Given the description of an element on the screen output the (x, y) to click on. 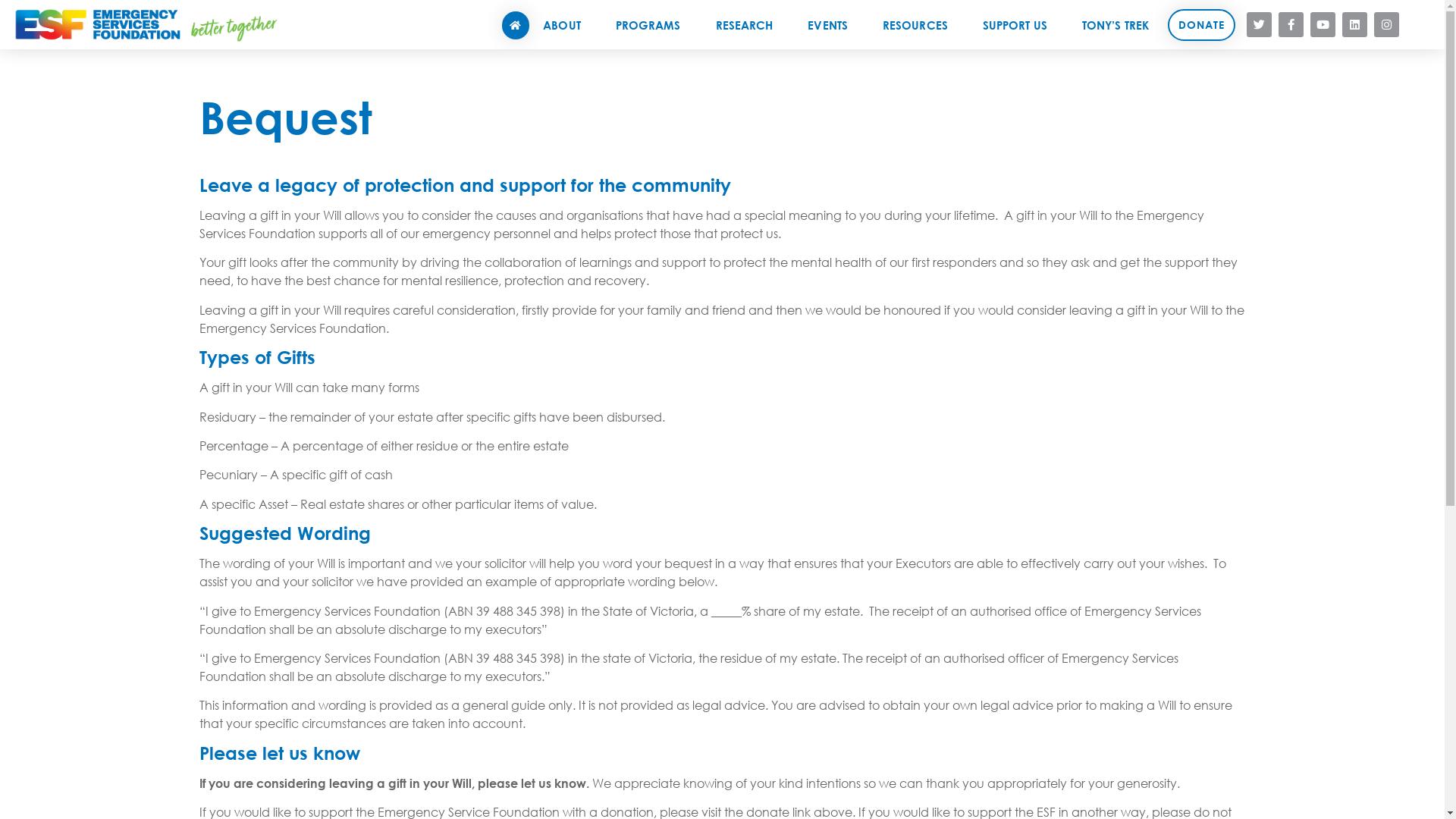
SUPPORT US Element type: text (1018, 24)
EVENTS Element type: text (831, 24)
RESOURCES Element type: text (918, 24)
DONATE Element type: text (1201, 24)
RESEARCH Element type: text (748, 24)
PROGRAMS Element type: text (651, 24)
ABOUT Element type: text (565, 24)
